Given the description of an element on the screen output the (x, y) to click on. 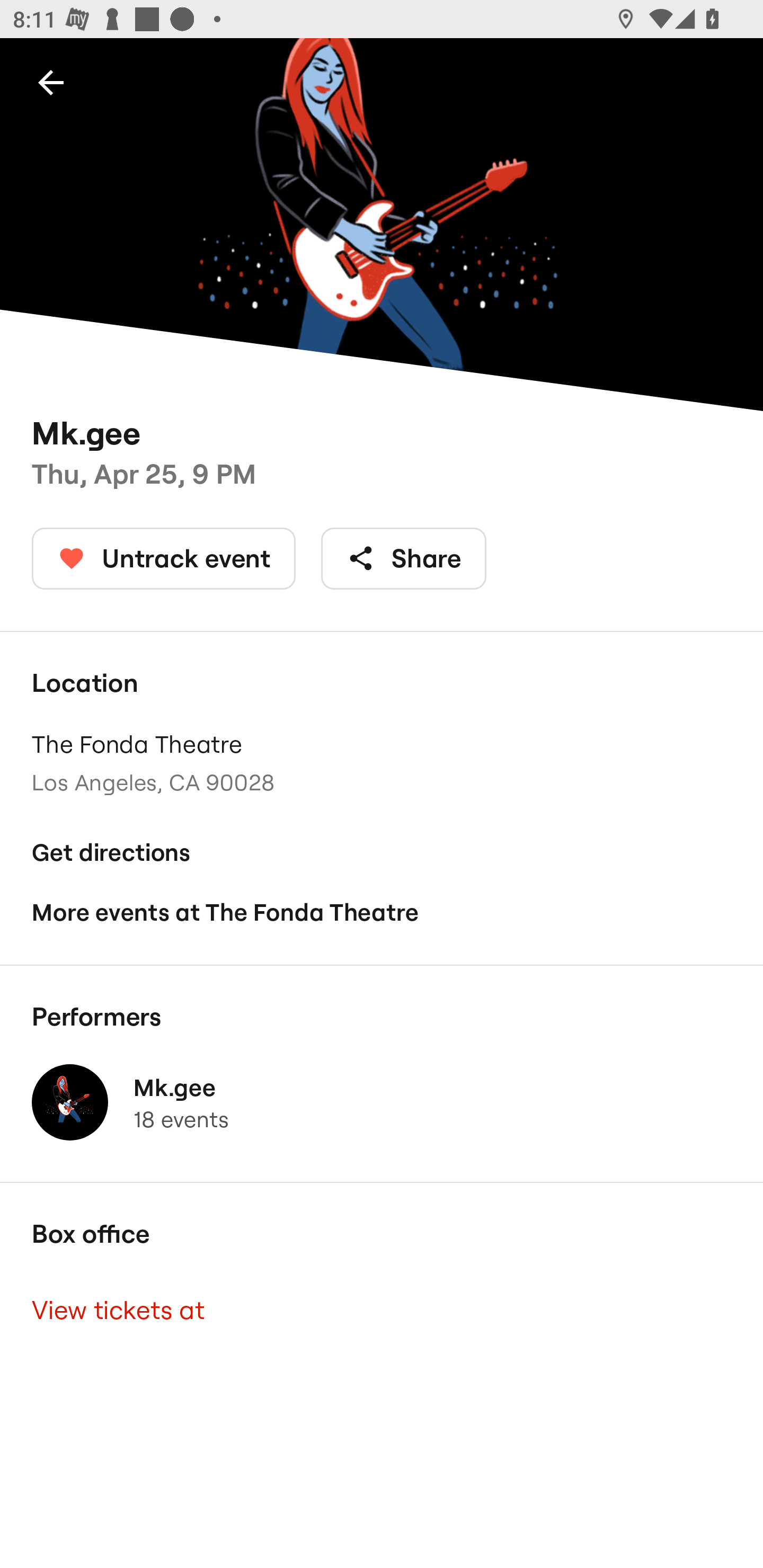
Back (50, 81)
Untrack event (164, 557)
Share (403, 557)
Get directions (381, 852)
More events at The Fonda Theatre (381, 912)
Mk.gee 18 events (381, 1102)
View tickets at  (381, 1309)
